Given the description of an element on the screen output the (x, y) to click on. 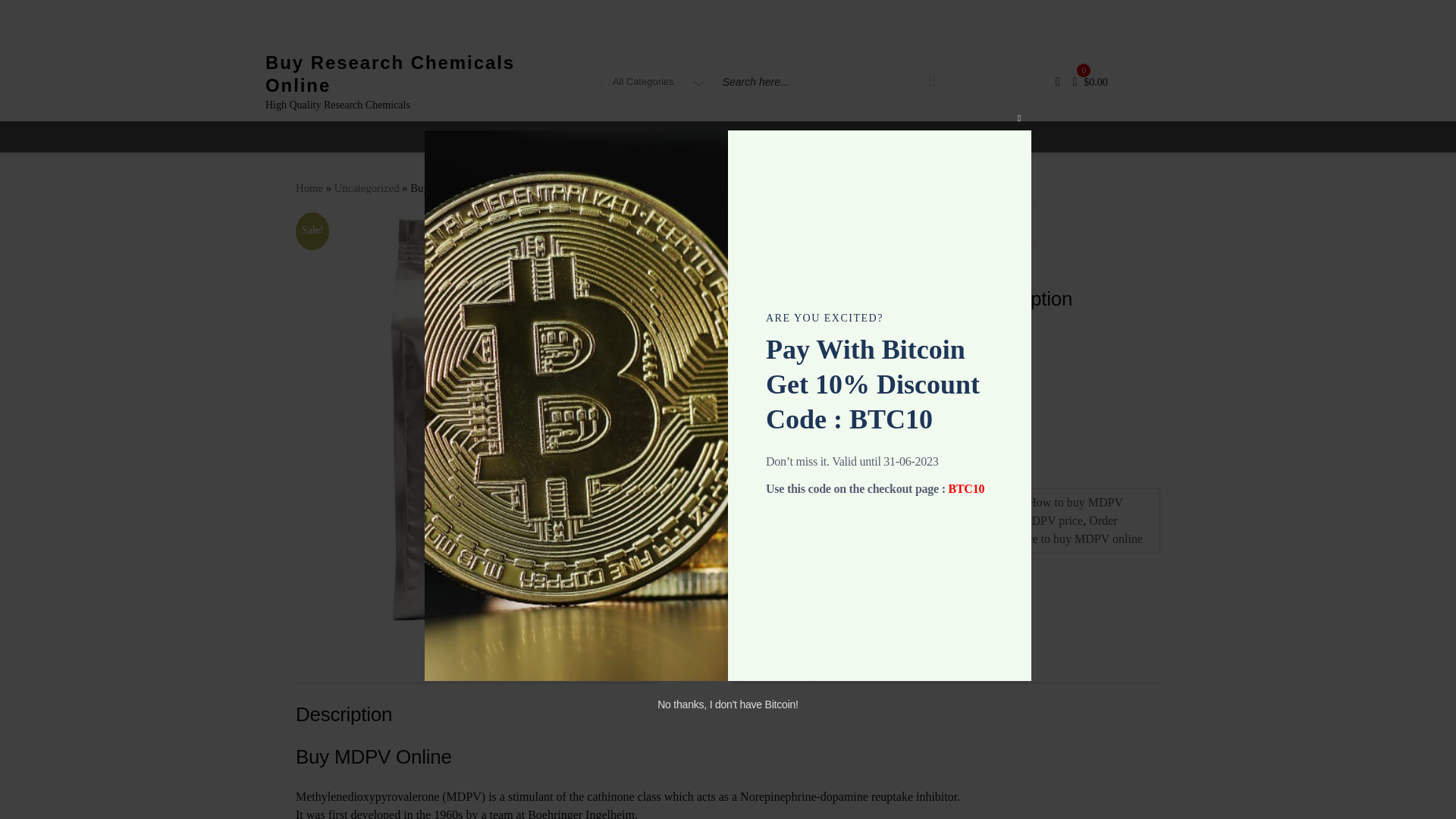
How to buy MDPV online (936, 511)
Uncategorized (837, 502)
About Us (630, 136)
Add to wishlist (804, 418)
My account (844, 136)
MDPV for sale (903, 520)
1 (767, 375)
MDPV Bitcoin (823, 520)
MDPV price (1051, 520)
Home (309, 187)
5500 Blue Lagoon Dr, Miami, FL 33126-2028 (678, 11)
Add to cart (847, 375)
Compare (786, 457)
Buy Research Chemicals Online (389, 73)
